Given the description of an element on the screen output the (x, y) to click on. 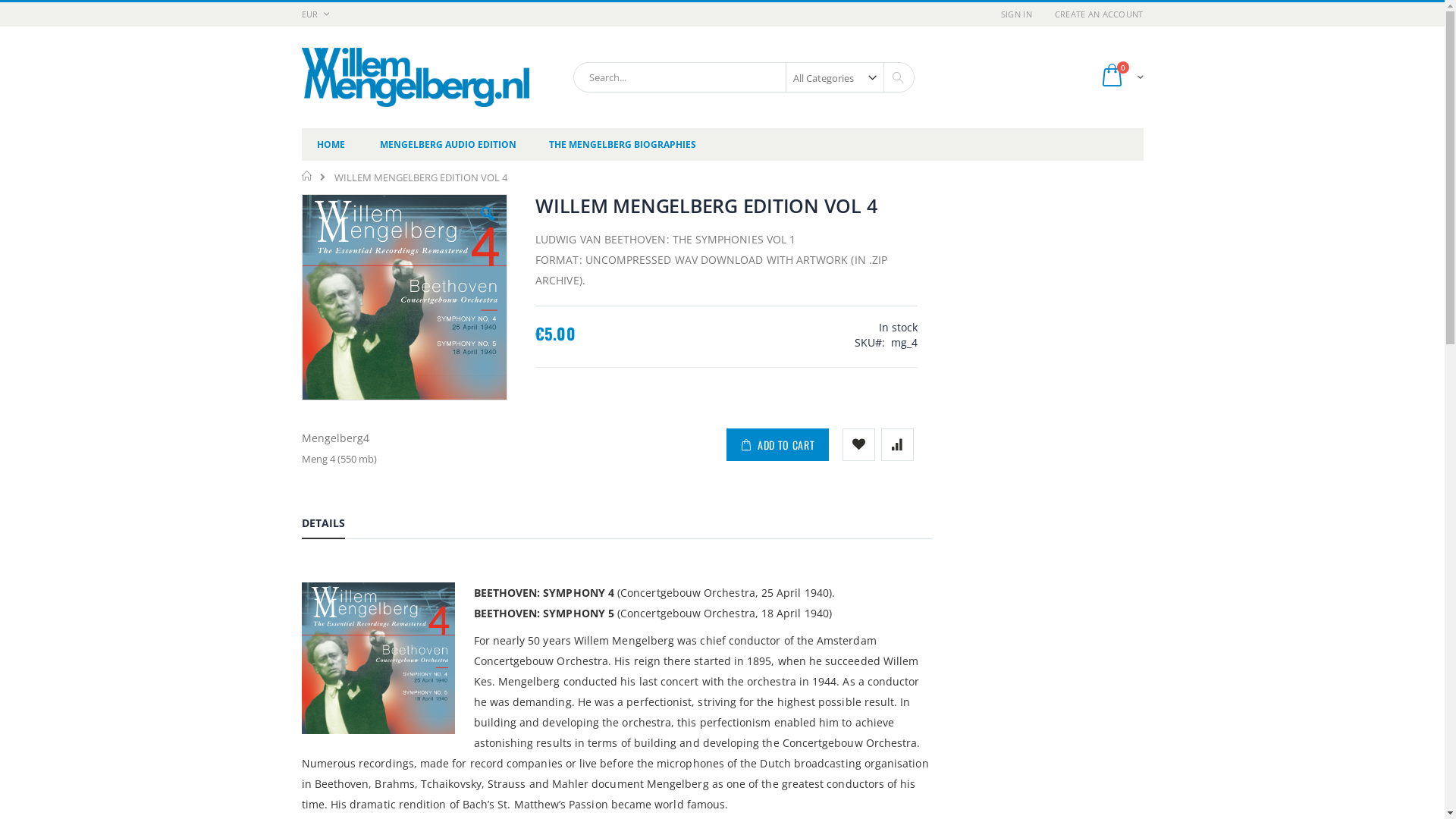
Home Element type: text (307, 175)
Skip to the beginning of the images gallery Element type: text (300, 401)
DETAILS Element type: text (323, 525)
MENGELBERG AUDIO EDITION Element type: text (447, 144)
CREATE AN ACCOUNT Element type: text (1093, 13)
HOME Element type: text (330, 144)
THE MENGELBERG BIOGRAPHIES Element type: text (622, 144)
Search Element type: text (896, 77)
SIGN IN Element type: text (1016, 13)
ADD TO CART Element type: text (777, 444)
Cart
0 Element type: text (1121, 77)
Skip to Content Element type: text (300, 7)
Skip to the end of the images gallery Element type: text (300, 193)
